Given the description of an element on the screen output the (x, y) to click on. 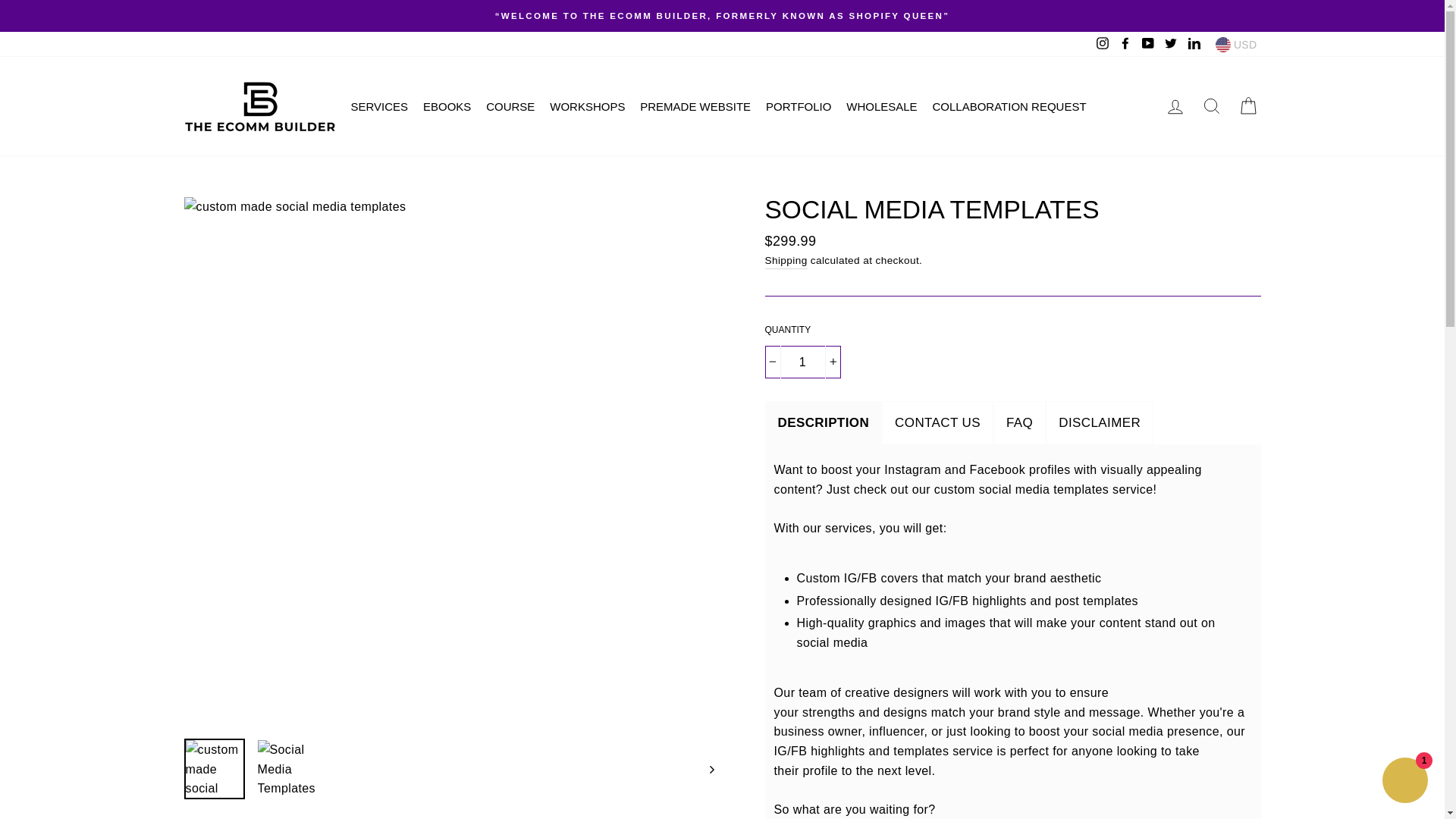
1 (802, 362)
USD (1236, 44)
EBOOKS (452, 106)
Shopify online store chat (1404, 781)
SERVICES (384, 106)
